Given the description of an element on the screen output the (x, y) to click on. 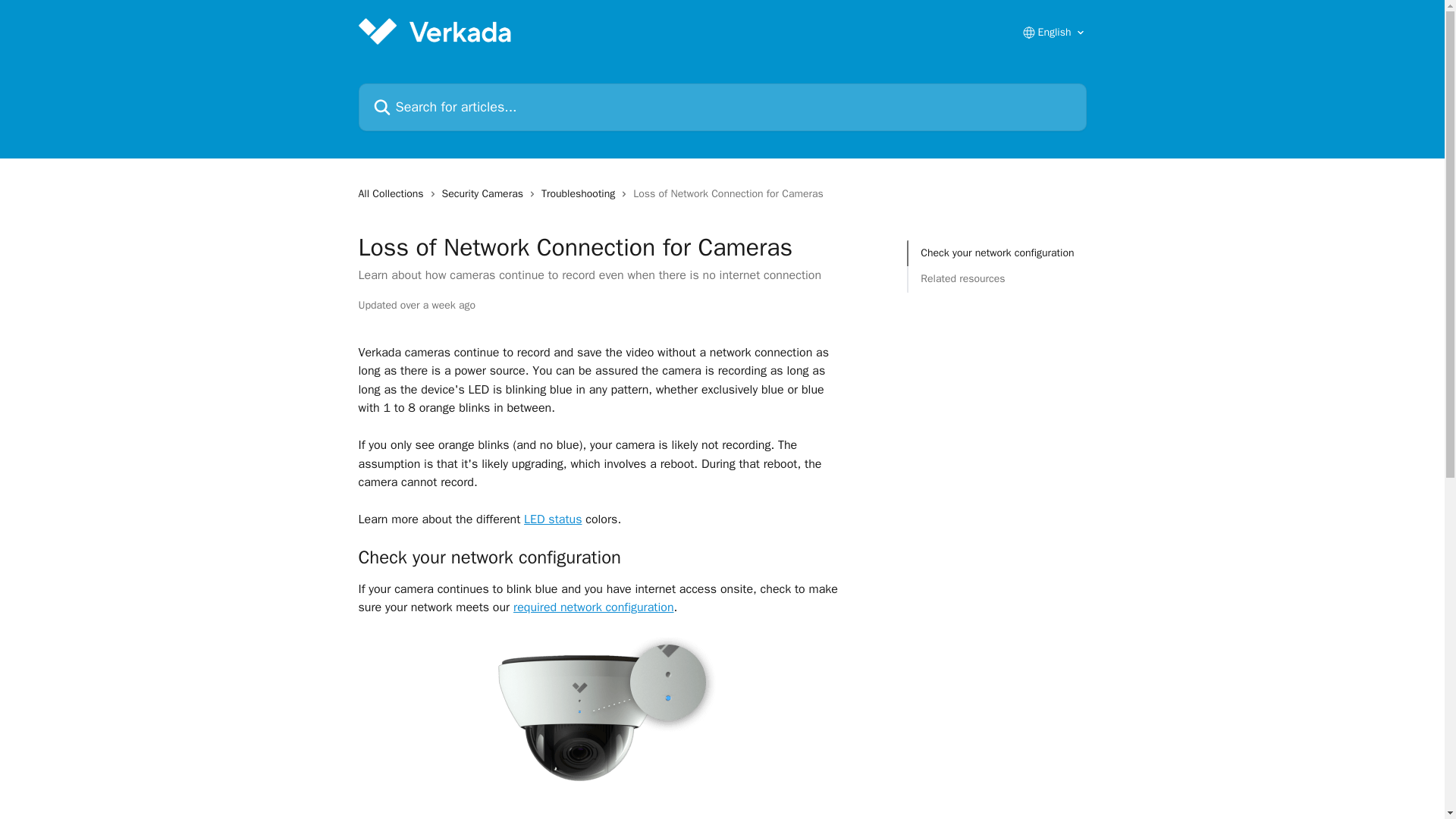
All Collections (393, 193)
required network configuration (593, 607)
Troubleshooting (581, 193)
Related resources (997, 279)
Security Cameras (485, 193)
LED status (552, 519)
Check your network configuration (997, 252)
